Given the description of an element on the screen output the (x, y) to click on. 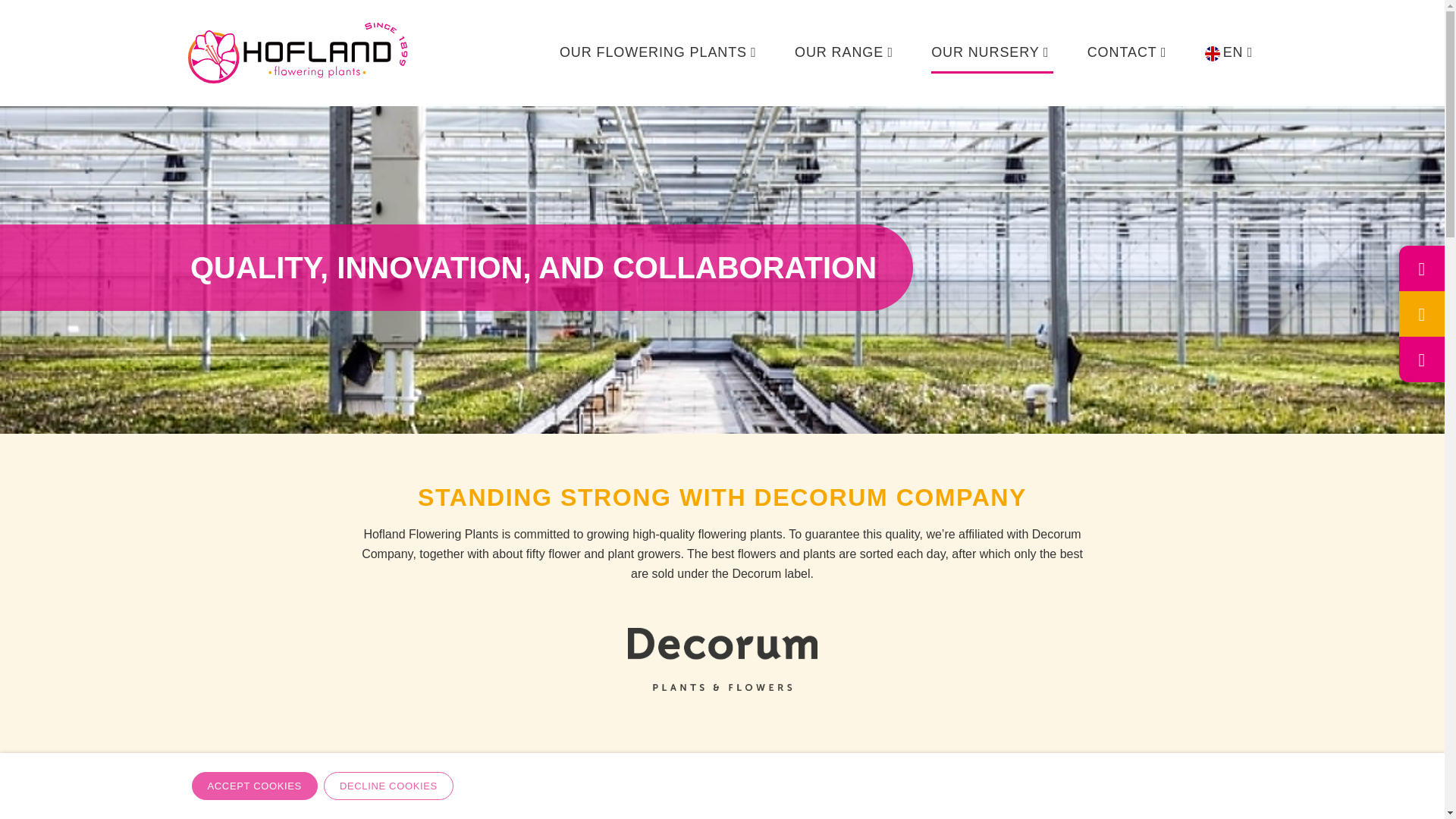
CONTACT (1128, 52)
OUR NURSERY (991, 52)
OUR FLOWERING PLANTS (659, 52)
EN (1231, 52)
OUR RANGE (845, 52)
